Given the description of an element on the screen output the (x, y) to click on. 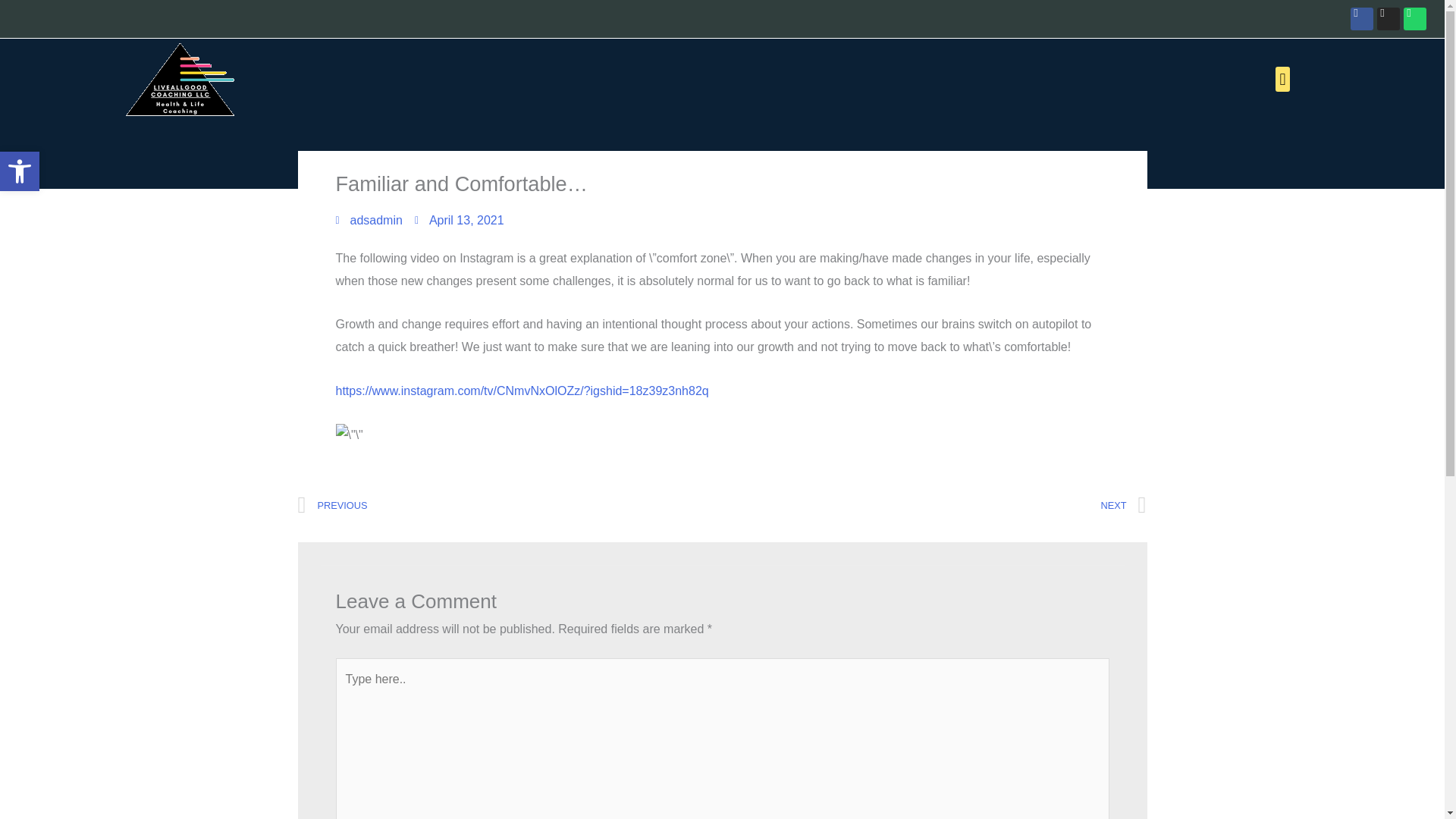
PREVIOUS (509, 505)
High Contrast (19, 170)
High Contrast (934, 505)
Increase Text (367, 220)
Grayscale (19, 170)
